Given the description of an element on the screen output the (x, y) to click on. 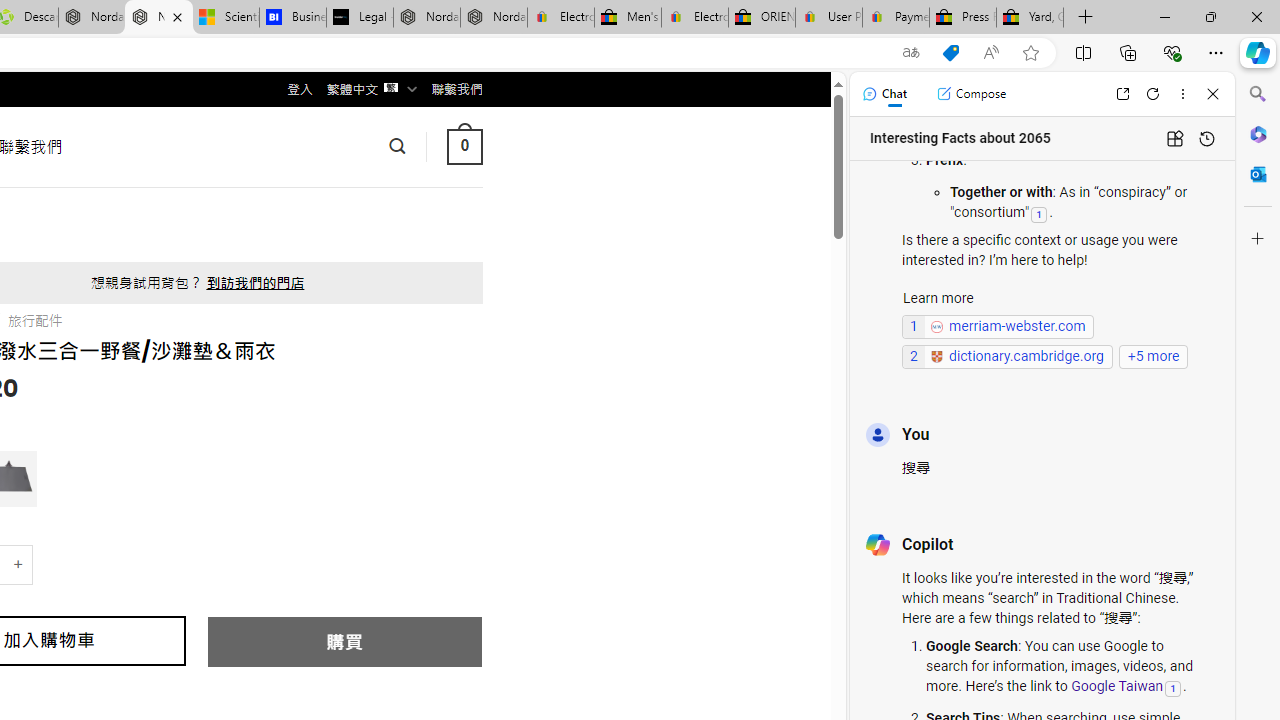
  0   (464, 146)
